Given the description of an element on the screen output the (x, y) to click on. 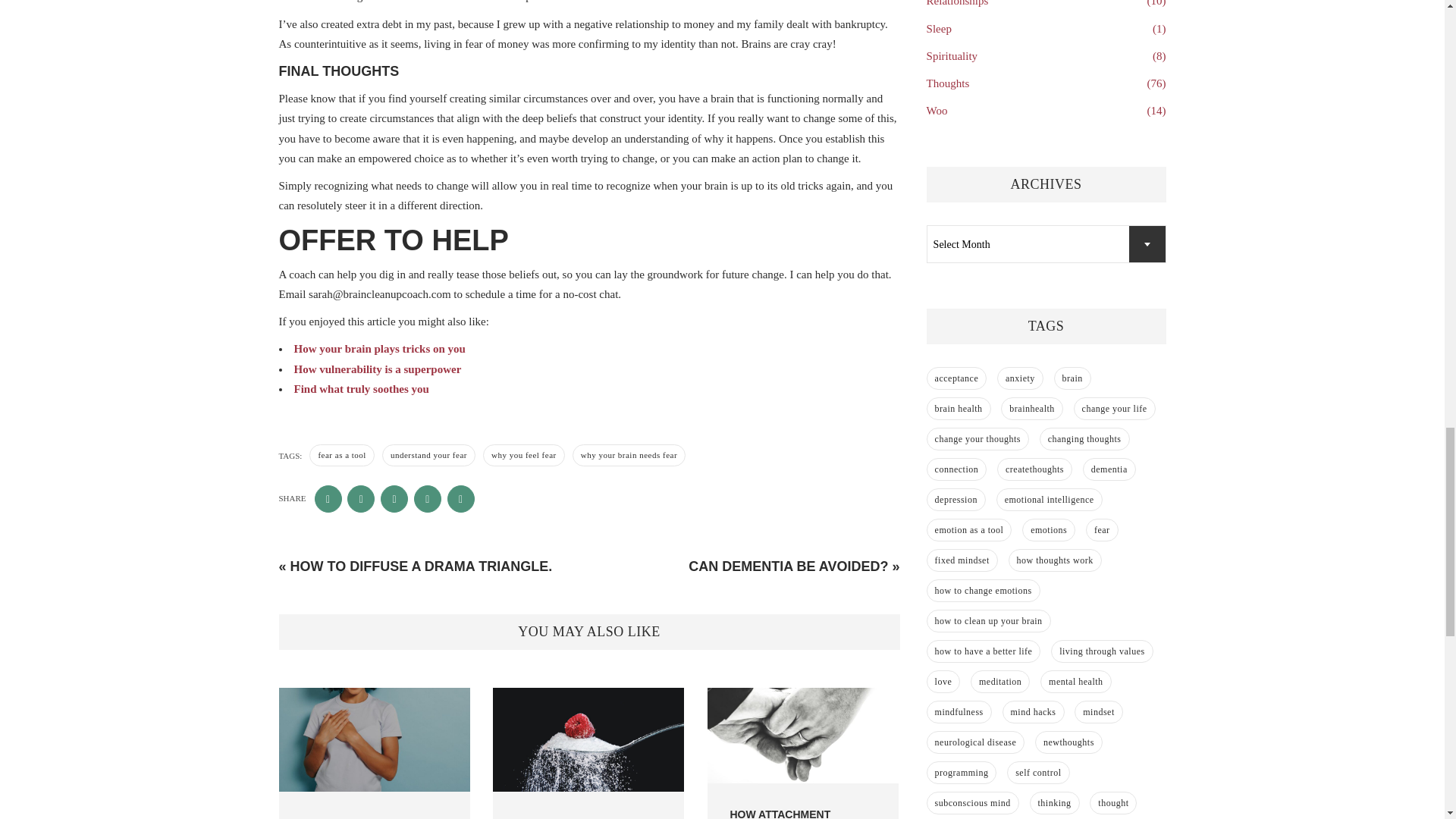
understand your fear (428, 455)
How vulnerability is a superpower (377, 369)
How your brain plays tricks on you (379, 348)
fear as a tool (341, 455)
Find what truly soothes you (361, 388)
why you feel fear (523, 455)
